Given the description of an element on the screen output the (x, y) to click on. 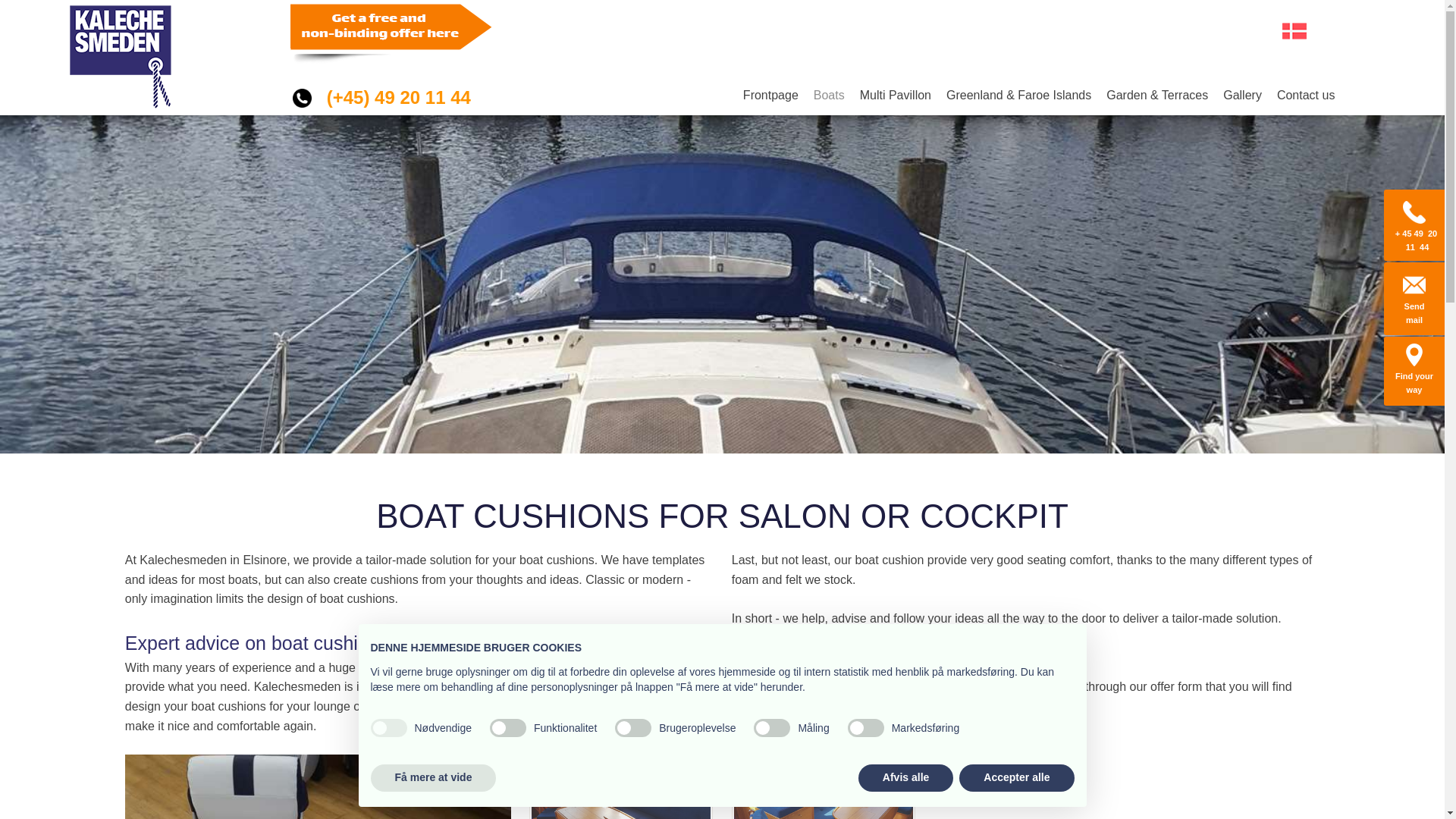
Boats (828, 95)
Contact us (1302, 95)
Gallery (1242, 95)
Frontpage (770, 95)
false (772, 728)
Multi Pavillon (895, 95)
Danish (1294, 30)
Til forsiden (119, 56)
offer (776, 706)
true (387, 728)
false (507, 728)
false (865, 728)
false (632, 728)
